Given the description of an element on the screen output the (x, y) to click on. 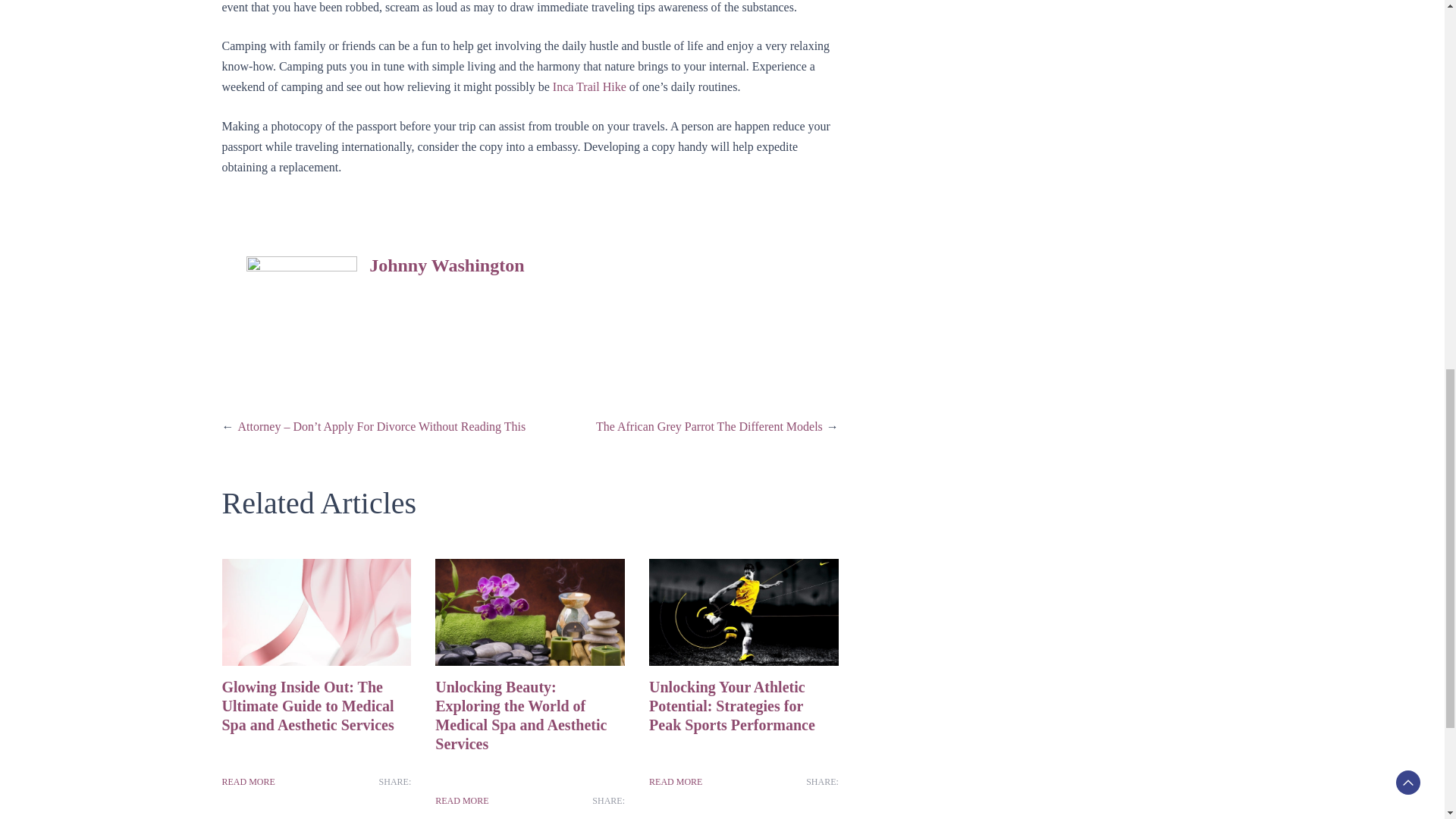
READ MORE (461, 800)
READ MORE (675, 781)
Inca Trail Hike (589, 86)
The African Grey Parrot The Different Models (708, 426)
Johnny Washington (446, 265)
READ MORE (248, 781)
